Given the description of an element on the screen output the (x, y) to click on. 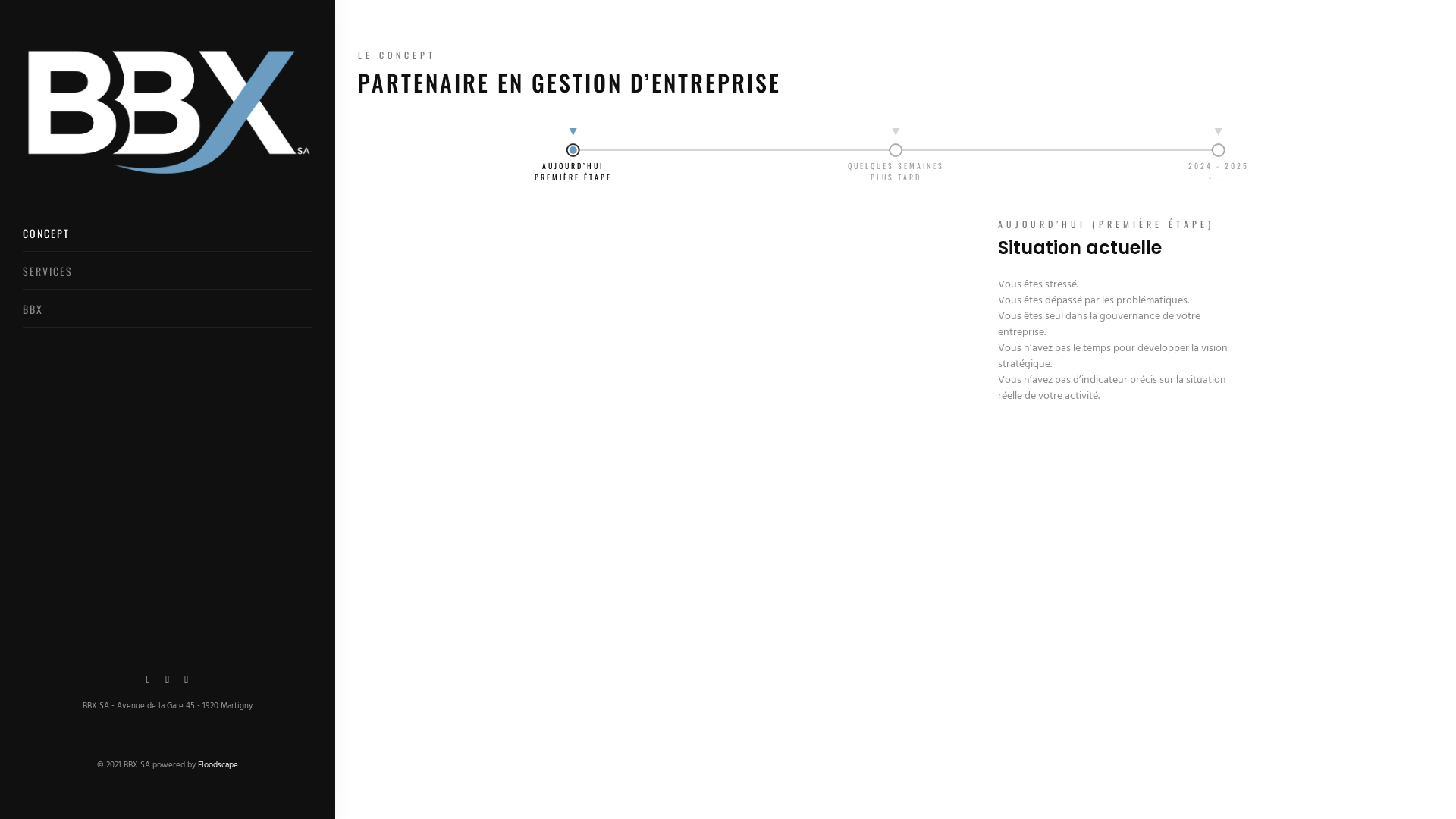
Floodscape Element type: text (217, 764)
SERVICES Element type: text (47, 271)
CONCEPT Element type: text (45, 233)
BBX Element type: text (32, 308)
